Given the description of an element on the screen output the (x, y) to click on. 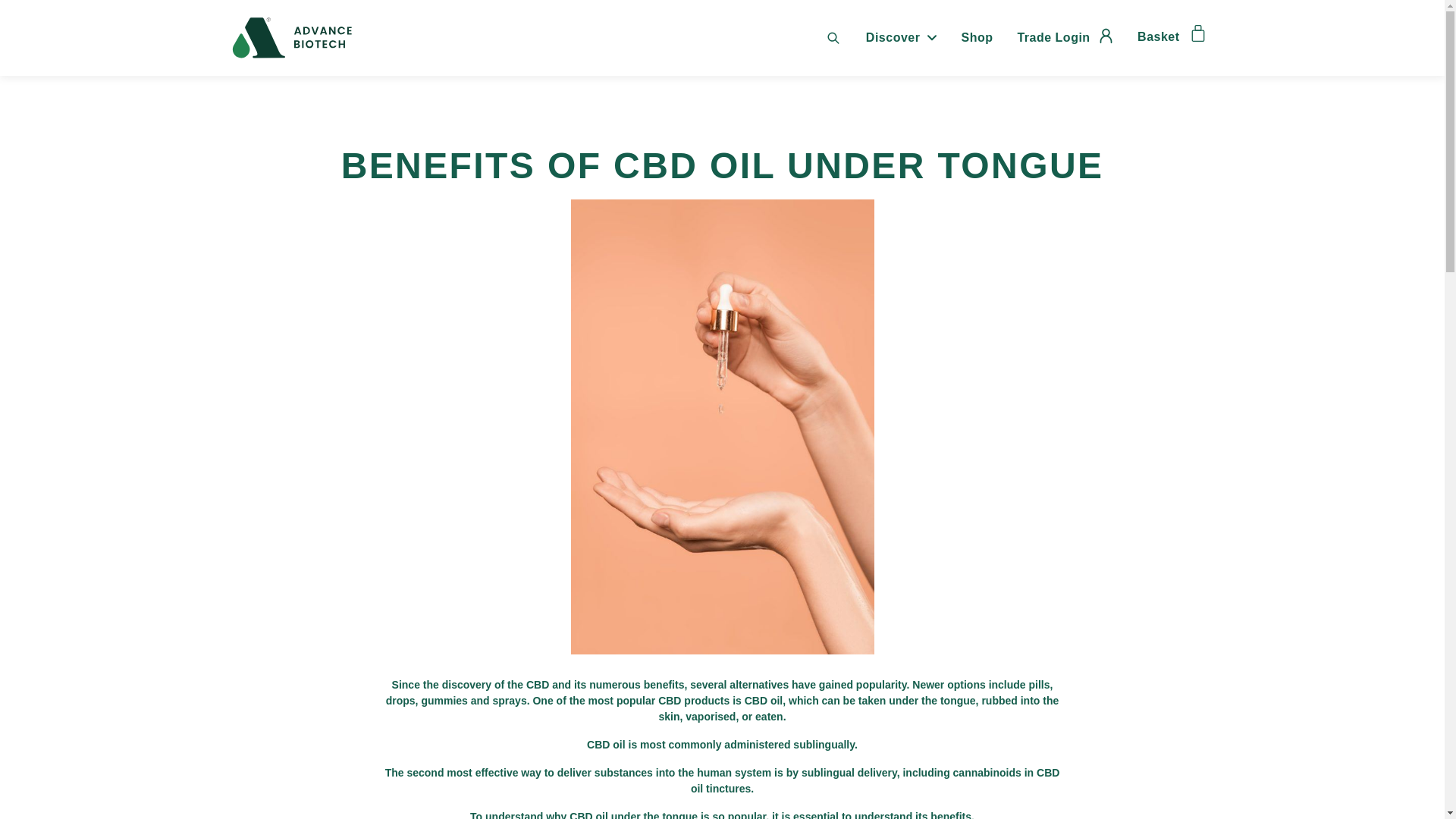
Trade Login (1064, 37)
Basket (1170, 33)
Discover (900, 37)
Shop (975, 37)
